Given the description of an element on the screen output the (x, y) to click on. 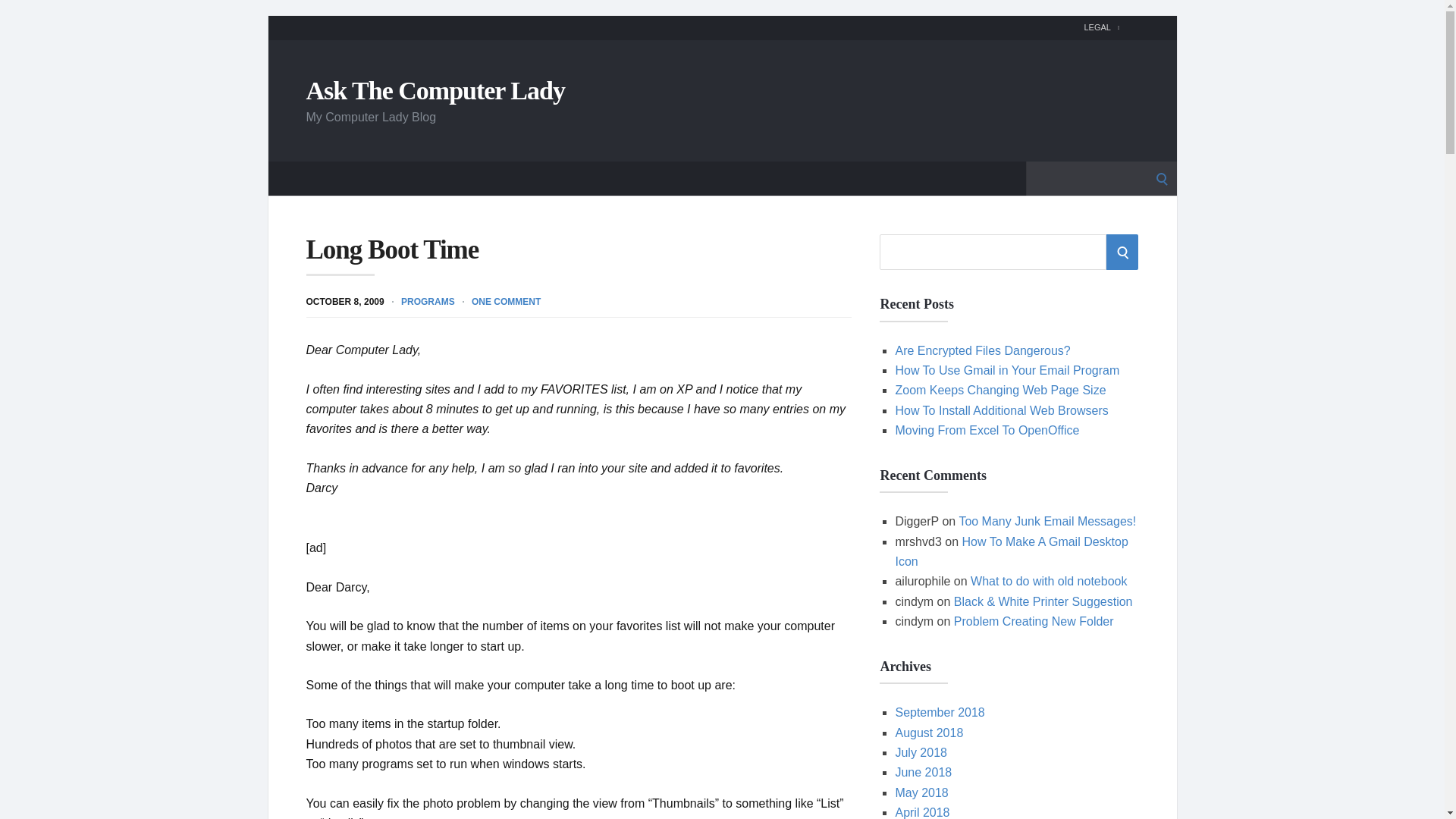
April 2018 (922, 812)
Are Encrypted Files Dangerous? (982, 350)
September 2018 (939, 712)
How To Install Additional Web Browsers (1001, 410)
Ask The Computer Lady (434, 89)
LEGAL (1101, 27)
PROGRAMS (427, 300)
May 2018 (921, 792)
Search (16, 17)
July 2018 (921, 752)
What to do with old notebook (1048, 581)
How To Make A Gmail Desktop Icon (1010, 551)
How To Use Gmail in Your Email Program (1007, 369)
August 2018 (928, 732)
Problem Creating New Folder (1033, 621)
